Given the description of an element on the screen output the (x, y) to click on. 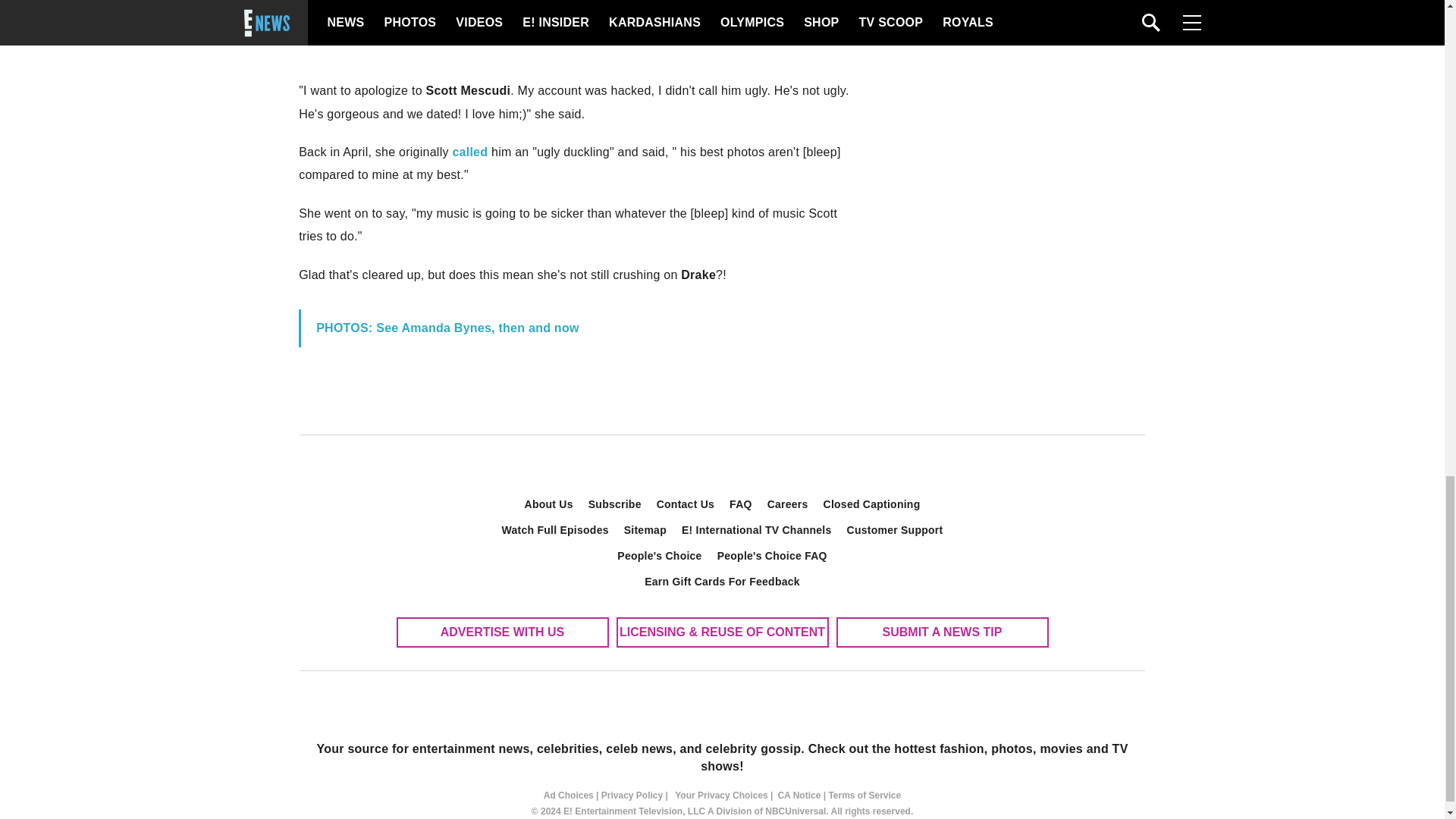
called (469, 151)
PHOTOS: See Amanda Bynes, then and now (446, 327)
